Given the description of an element on the screen output the (x, y) to click on. 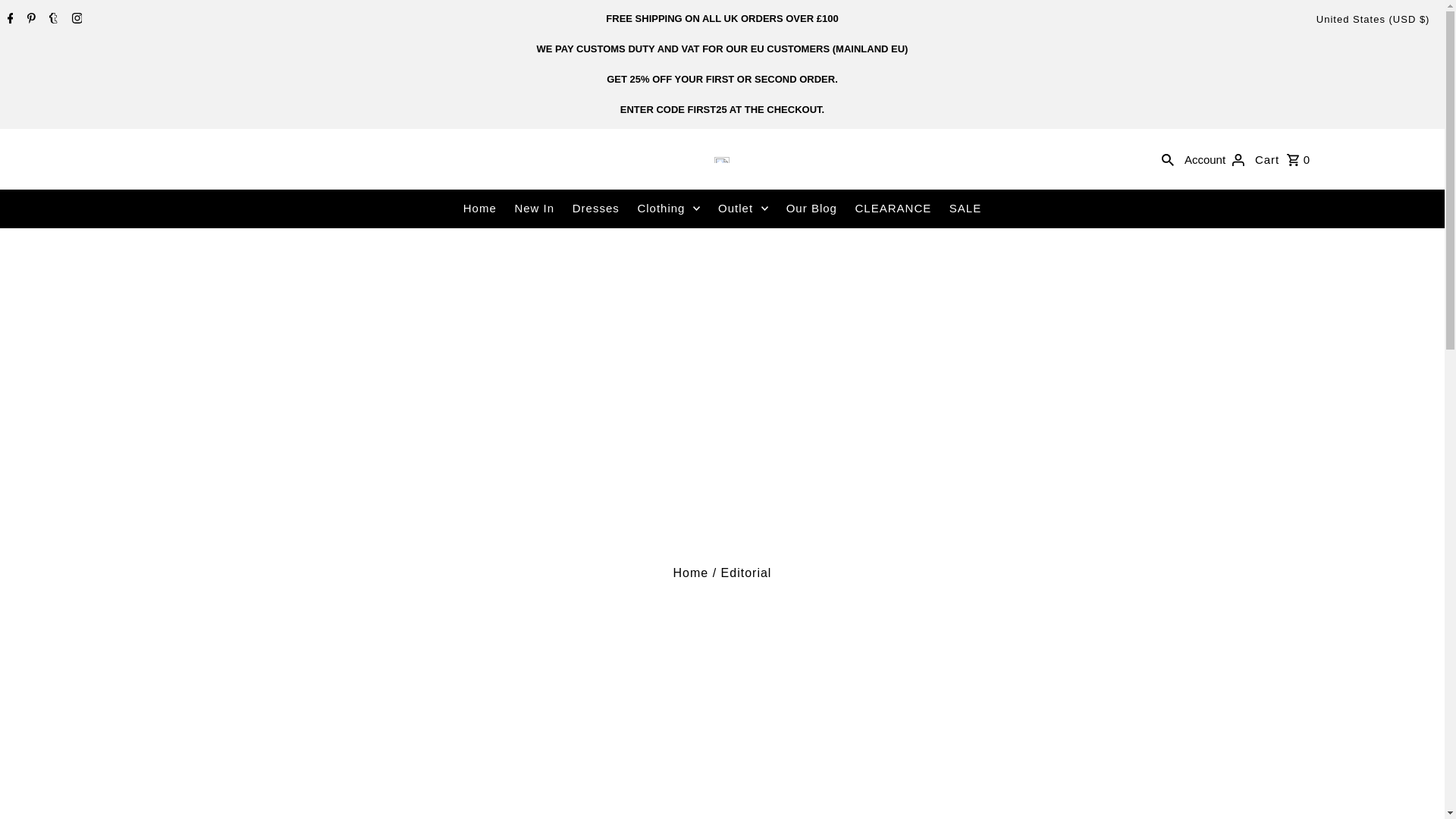
Home (690, 572)
